Given the description of an element on the screen output the (x, y) to click on. 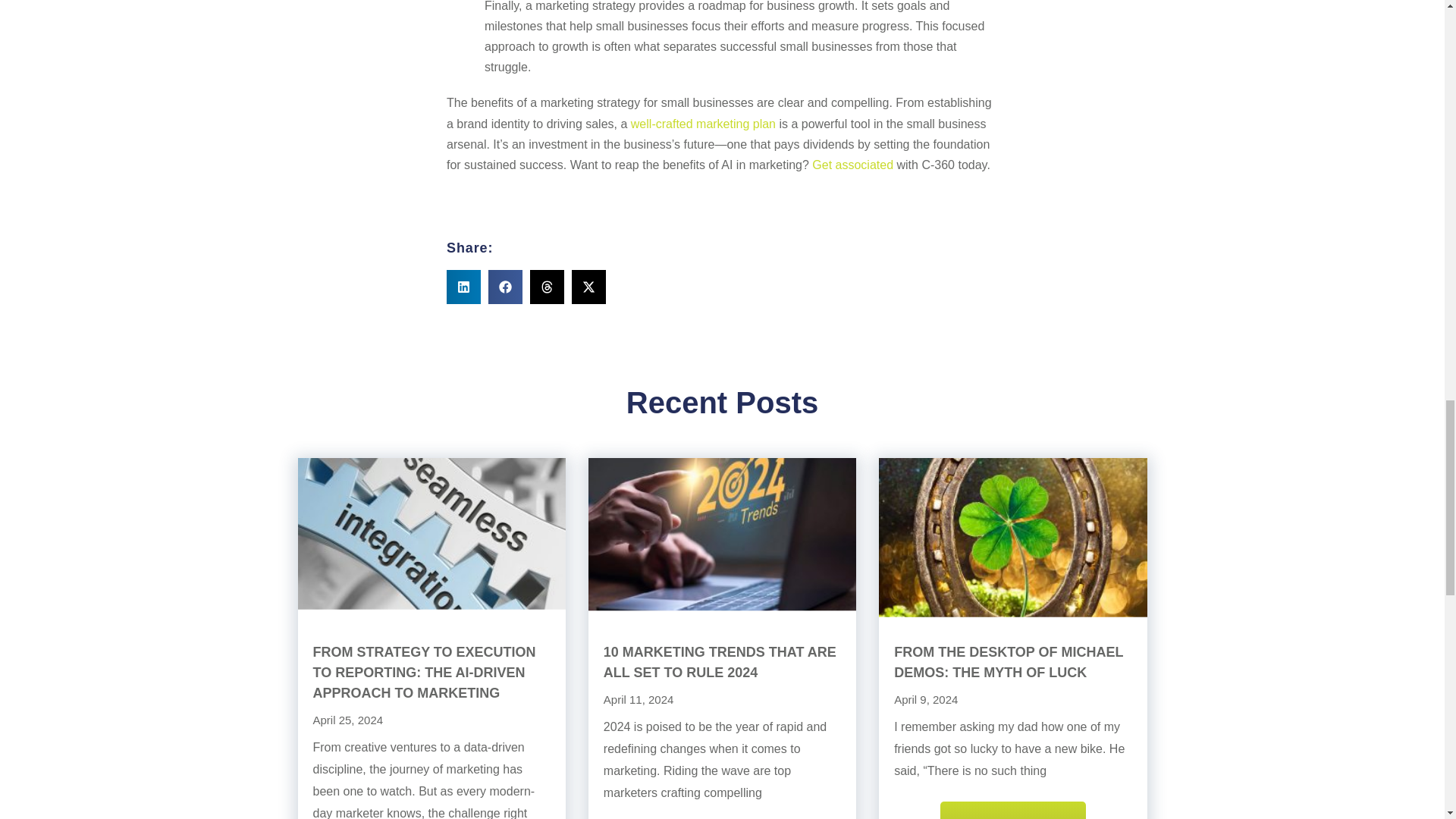
READ MORE (1013, 810)
FROM THE DESKTOP OF MICHAEL DEMOS: THE MYTH OF LUCK (1007, 662)
10 MARKETING TRENDS THAT ARE ALL SET TO RULE 2024 (719, 662)
Get associated (852, 164)
well-crafted marketing plan (703, 123)
